Given the description of an element on the screen output the (x, y) to click on. 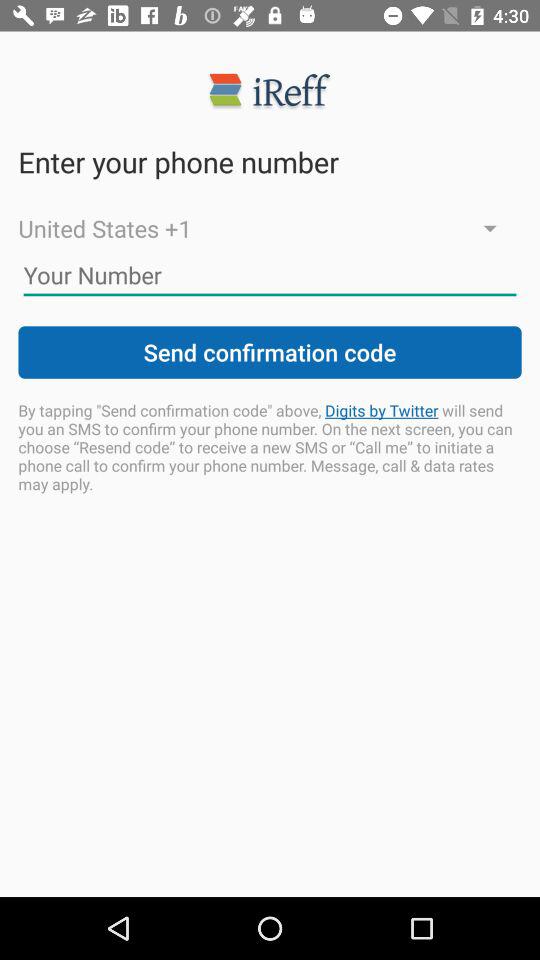
phone number field (269, 275)
